Given the description of an element on the screen output the (x, y) to click on. 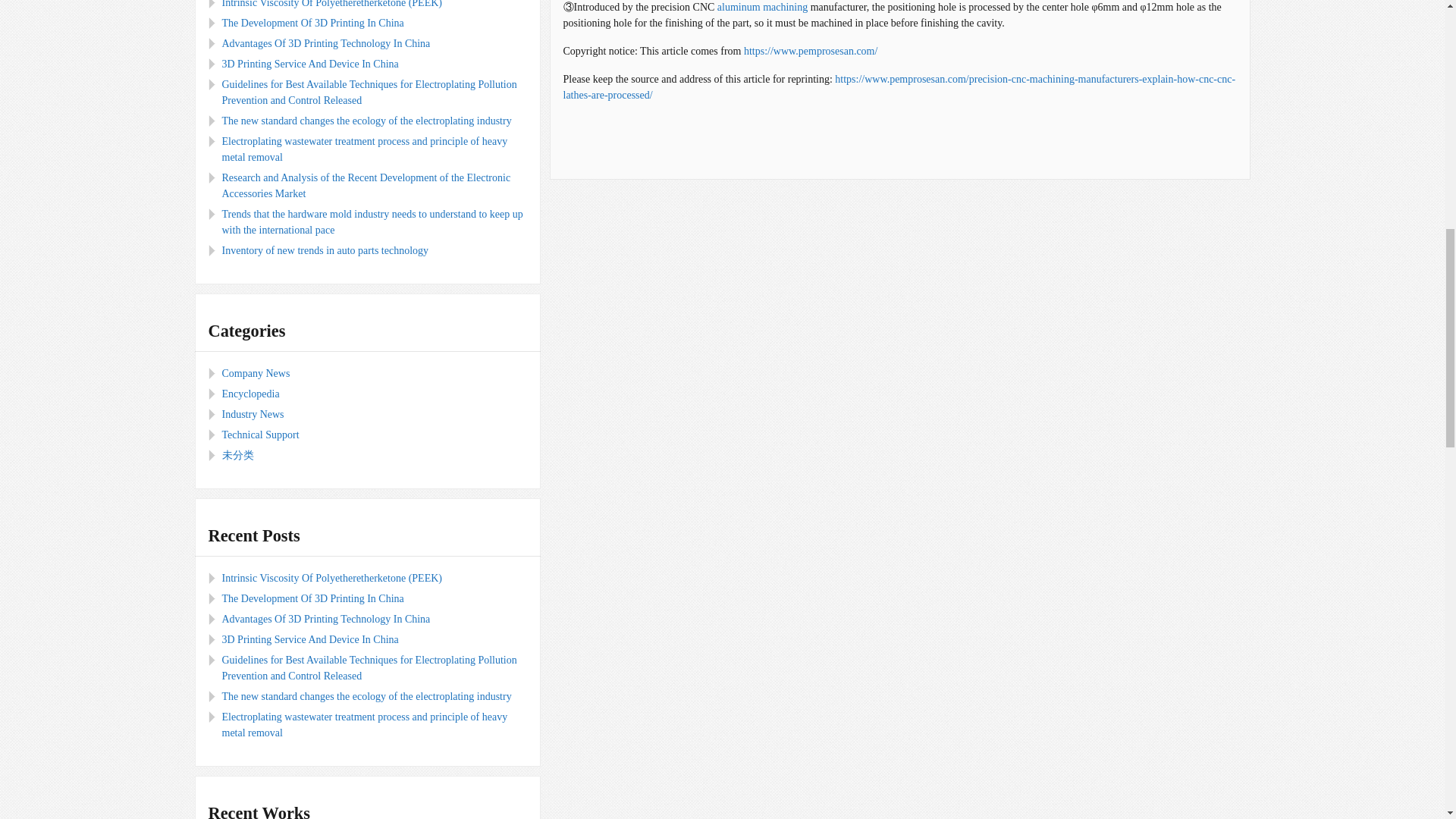
Advantages Of 3D Printing Technology In China (325, 43)
3D Printing Service And Device In China (309, 63)
The Development Of 3D Printing In China (312, 22)
aluminum machining (763, 7)
